Given the description of an element on the screen output the (x, y) to click on. 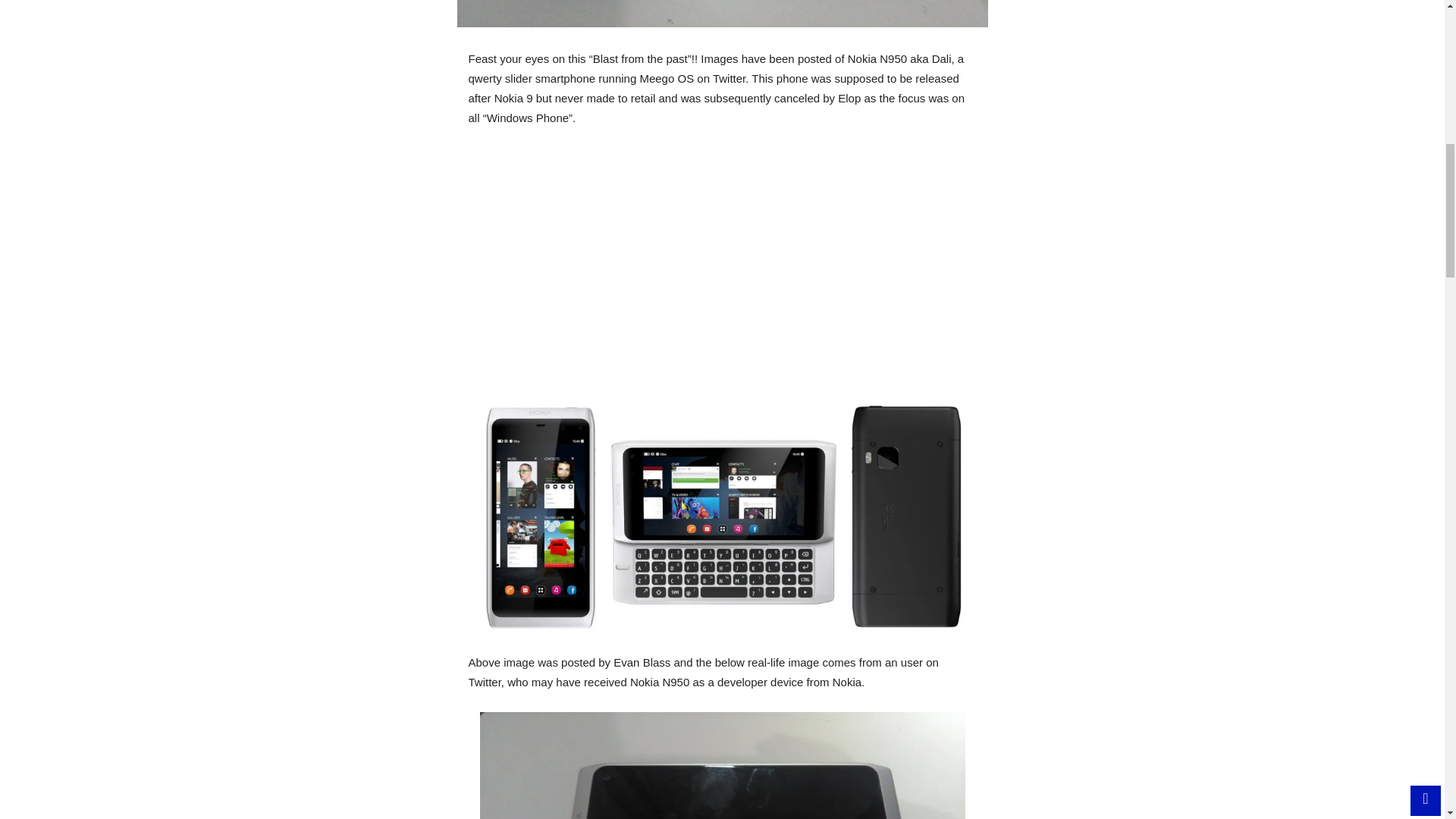
3rd party ad content (722, 271)
Real-life Nokia N 950 Dali with Meego OS (722, 13)
